Given the description of an element on the screen output the (x, y) to click on. 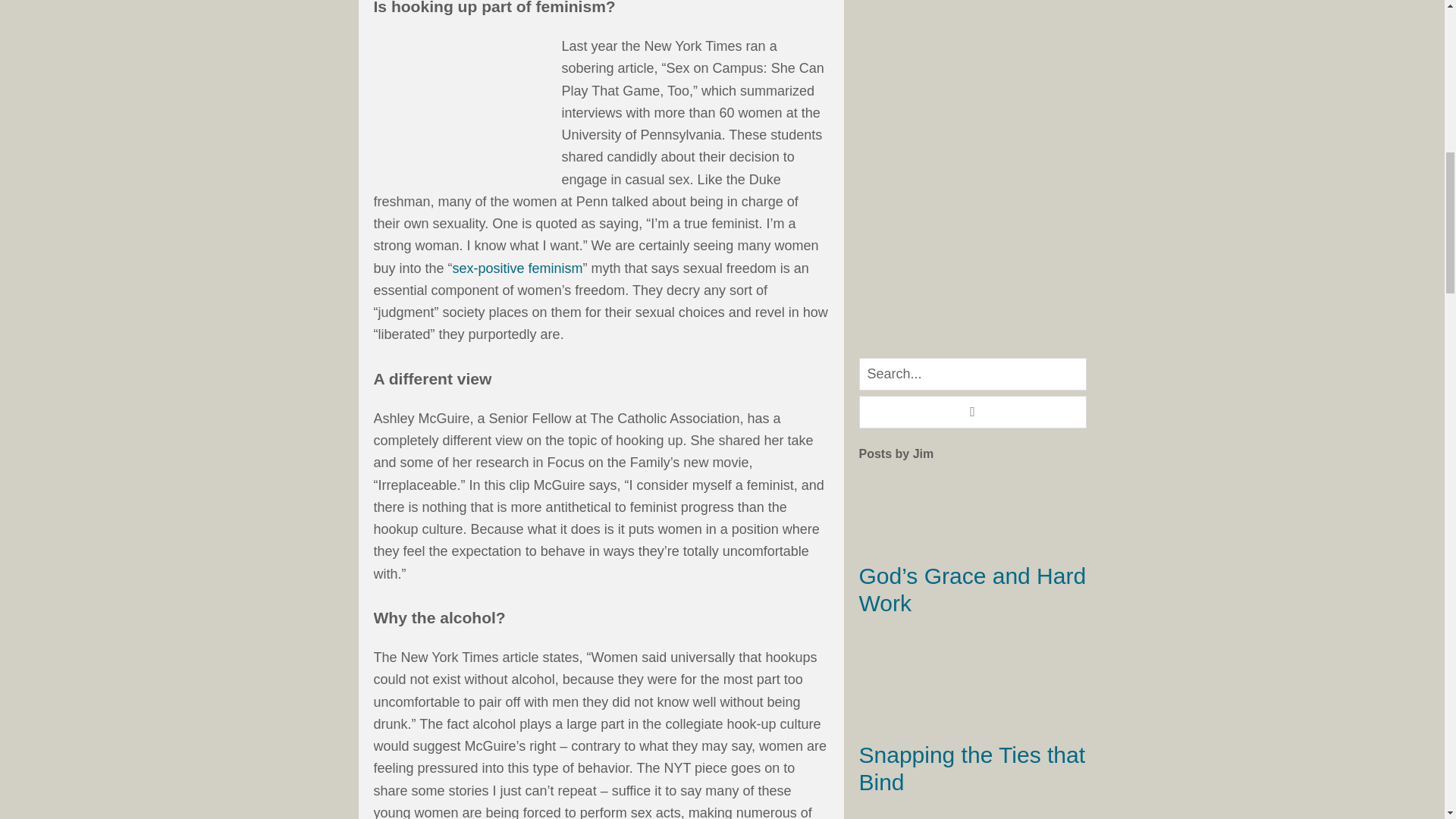
Snapping the Ties that Bind (971, 768)
sex-positive feminism (517, 268)
